Given the description of an element on the screen output the (x, y) to click on. 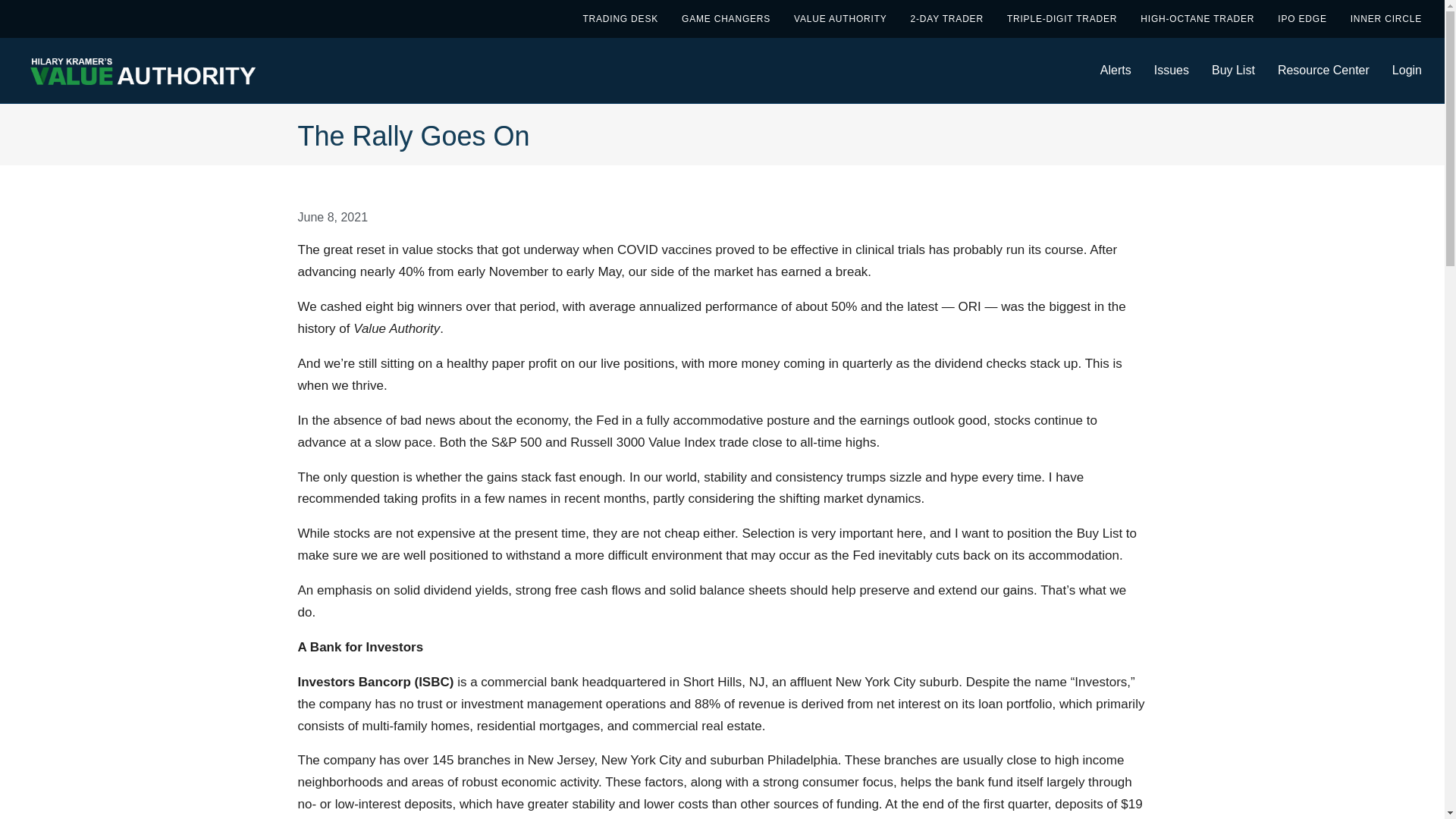
2-DAY TRADER (947, 18)
TRADING DESK (620, 18)
GAME CHANGERS (725, 18)
INNER CIRCLE (1386, 18)
Buy List (1233, 70)
VALUE AUTHORITY (839, 18)
Resource Center (1324, 70)
TRIPLE-DIGIT TRADER (1061, 18)
HIGH-OCTANE TRADER (1196, 18)
IPO EDGE (1302, 18)
